Given the description of an element on the screen output the (x, y) to click on. 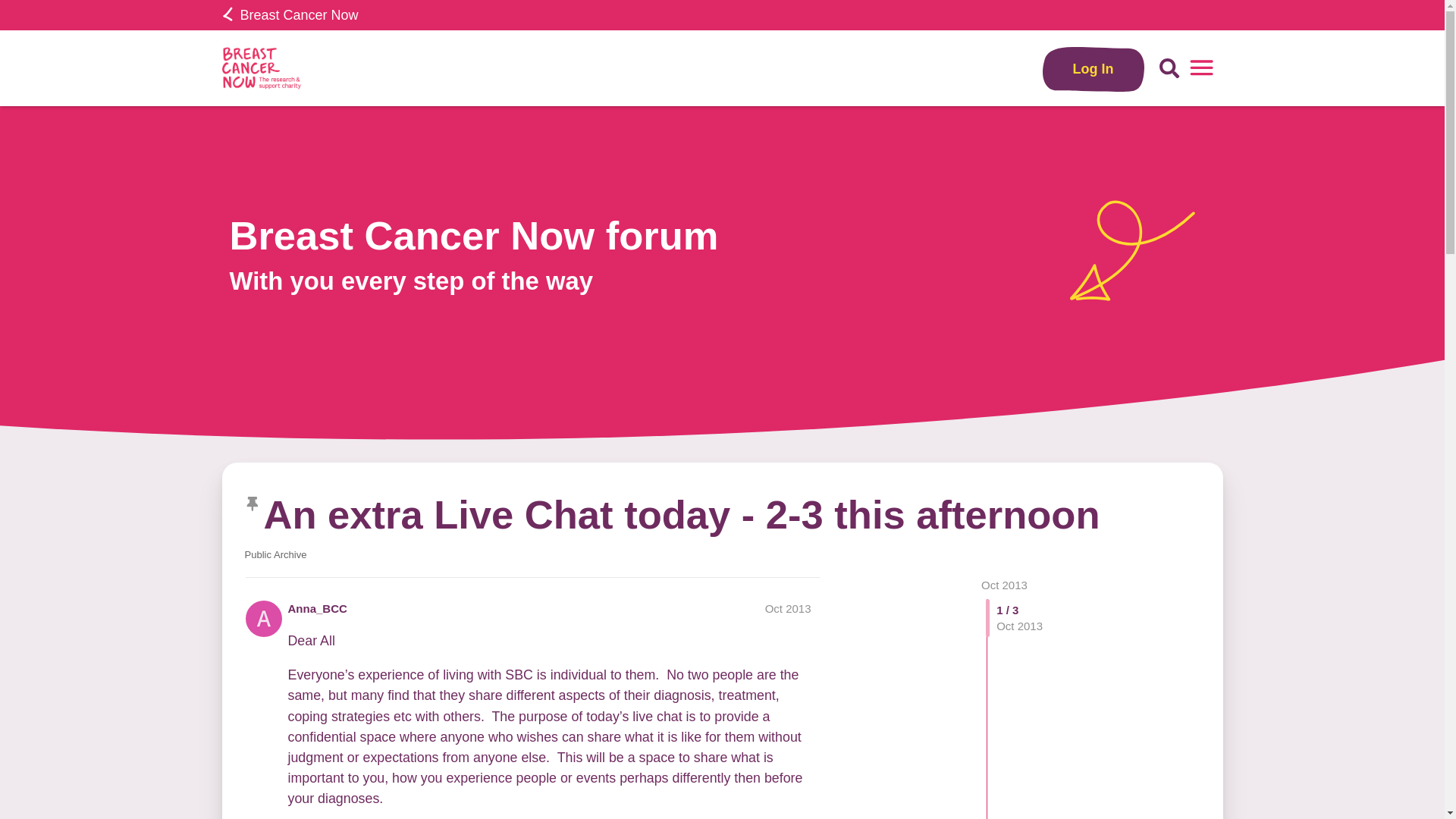
Oct 2013 (1004, 584)
menu (1201, 67)
Breast Cancer Now (289, 15)
Archived posts which are available to view. (274, 554)
Oct 2013 (1004, 584)
An extra Live Chat today - 2-3 this afternoon (681, 514)
Log In (1093, 68)
Oct 2013 (787, 608)
Post date (787, 608)
Public Archive (274, 554)
Search (1169, 68)
